Given the description of an element on the screen output the (x, y) to click on. 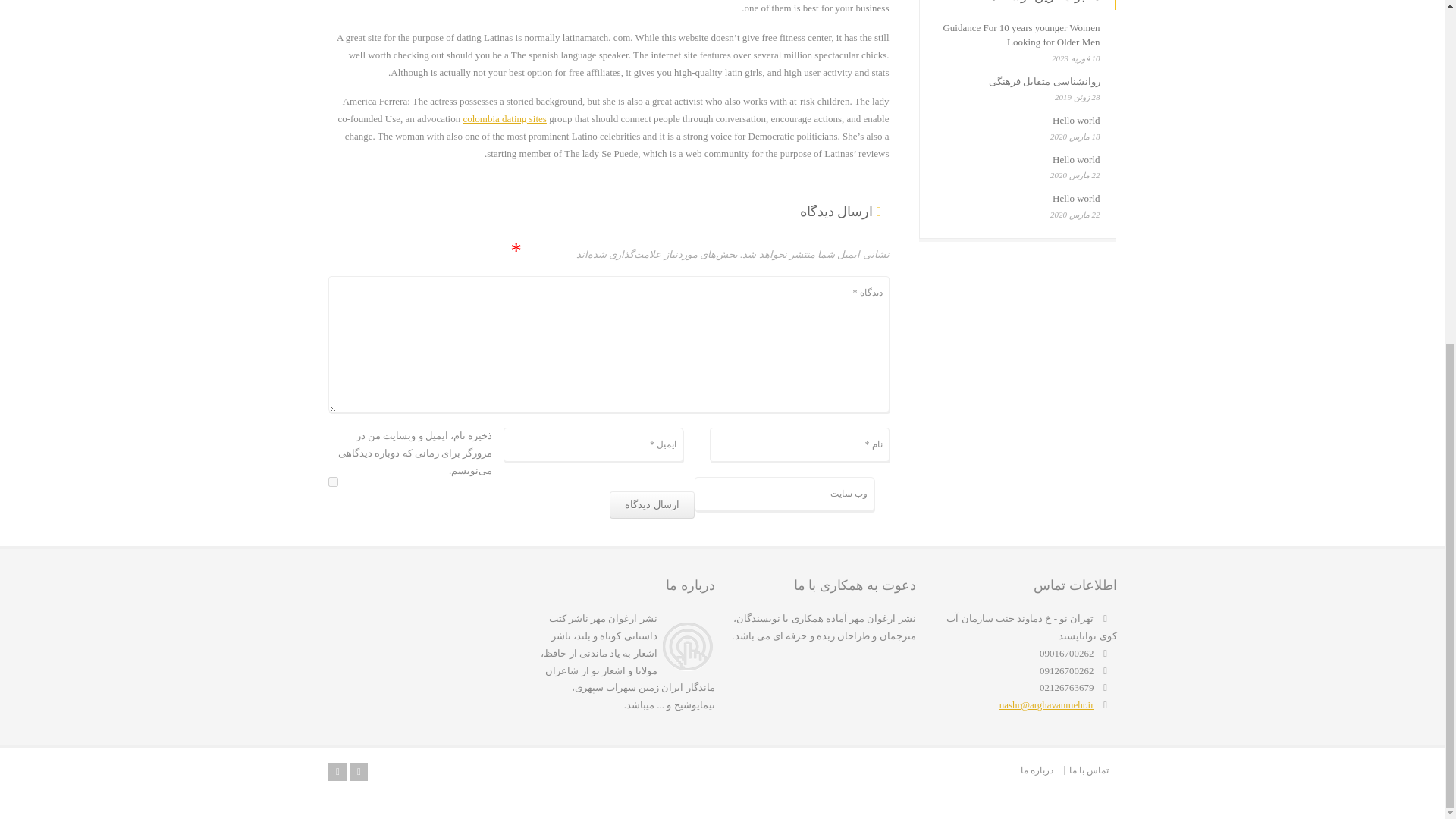
Hello world (1075, 197)
Hello world (1075, 159)
Hello world (1075, 120)
Email (336, 771)
yes (332, 481)
colombia dating sites (504, 118)
Guidance For 10 years younger Women Looking for Older Men (1020, 35)
Instagram (357, 771)
